Given the description of an element on the screen output the (x, y) to click on. 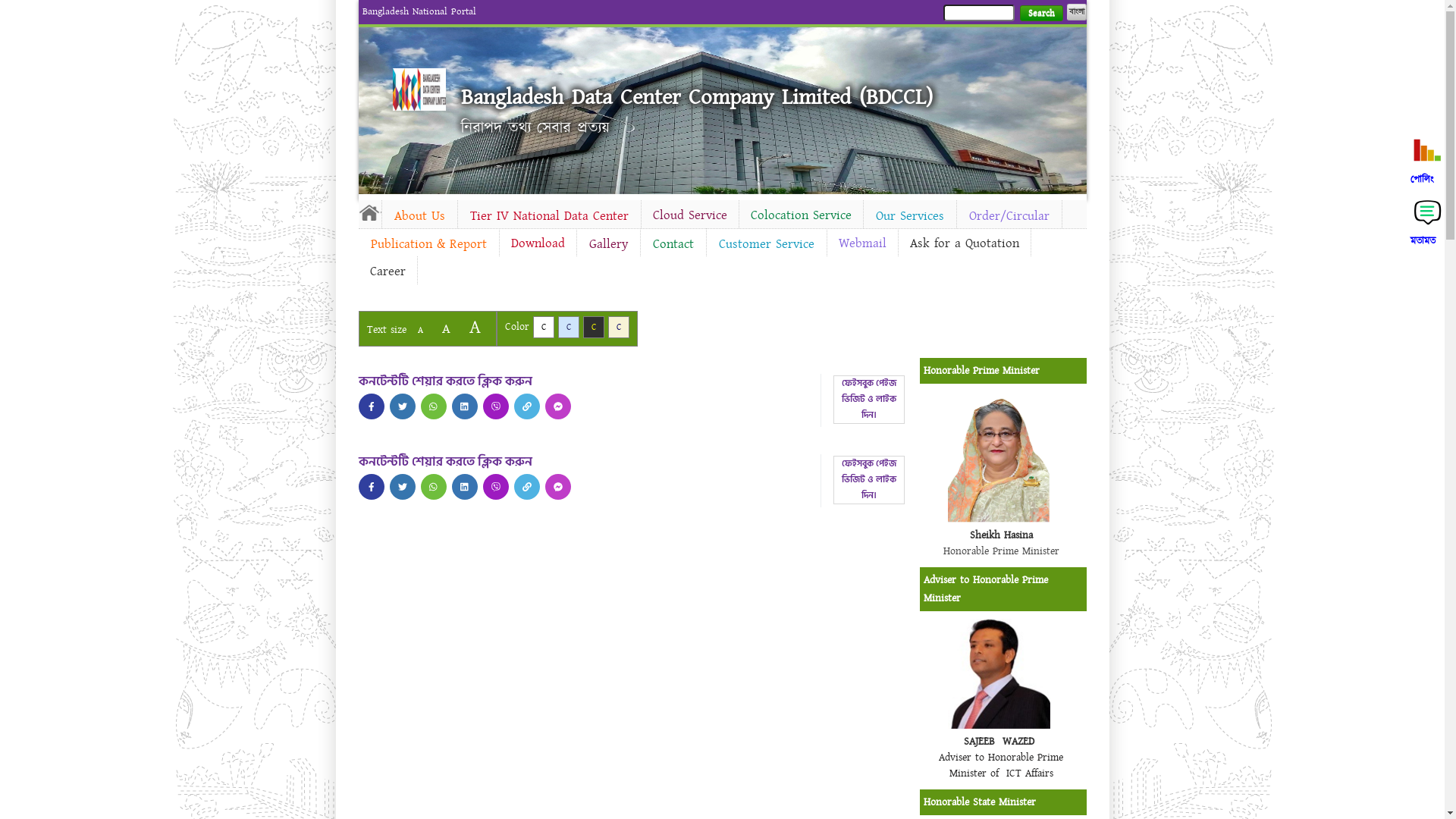
Publication & Report Element type: text (427, 244)
Ask for a Quotation Element type: text (963, 243)
Customer Service Element type: text (766, 244)
Search Element type: text (1040, 13)
Download Element type: text (536, 243)
Career Element type: text (386, 271)
Home Element type: hover (368, 211)
A Element type: text (474, 327)
C Element type: text (542, 327)
Bangladesh Data Center Company Limited (BDCCL) Element type: text (696, 96)
C Element type: text (592, 327)
C Element type: text (568, 327)
Webmail Element type: text (861, 243)
Order/Circular Element type: text (1009, 216)
Tier IV National Data Center Element type: text (549, 216)
Bangladesh National Portal Element type: text (419, 11)
About Us Element type: text (419, 216)
C Element type: text (618, 327)
Cloud Service Element type: text (689, 215)
A Element type: text (419, 330)
Contact Element type: text (672, 244)
Home Element type: hover (418, 89)
A Element type: text (445, 328)
Gallery Element type: text (607, 244)
Our Services Element type: text (908, 216)
Colocation Service Element type: text (800, 215)
